Given the description of an element on the screen output the (x, y) to click on. 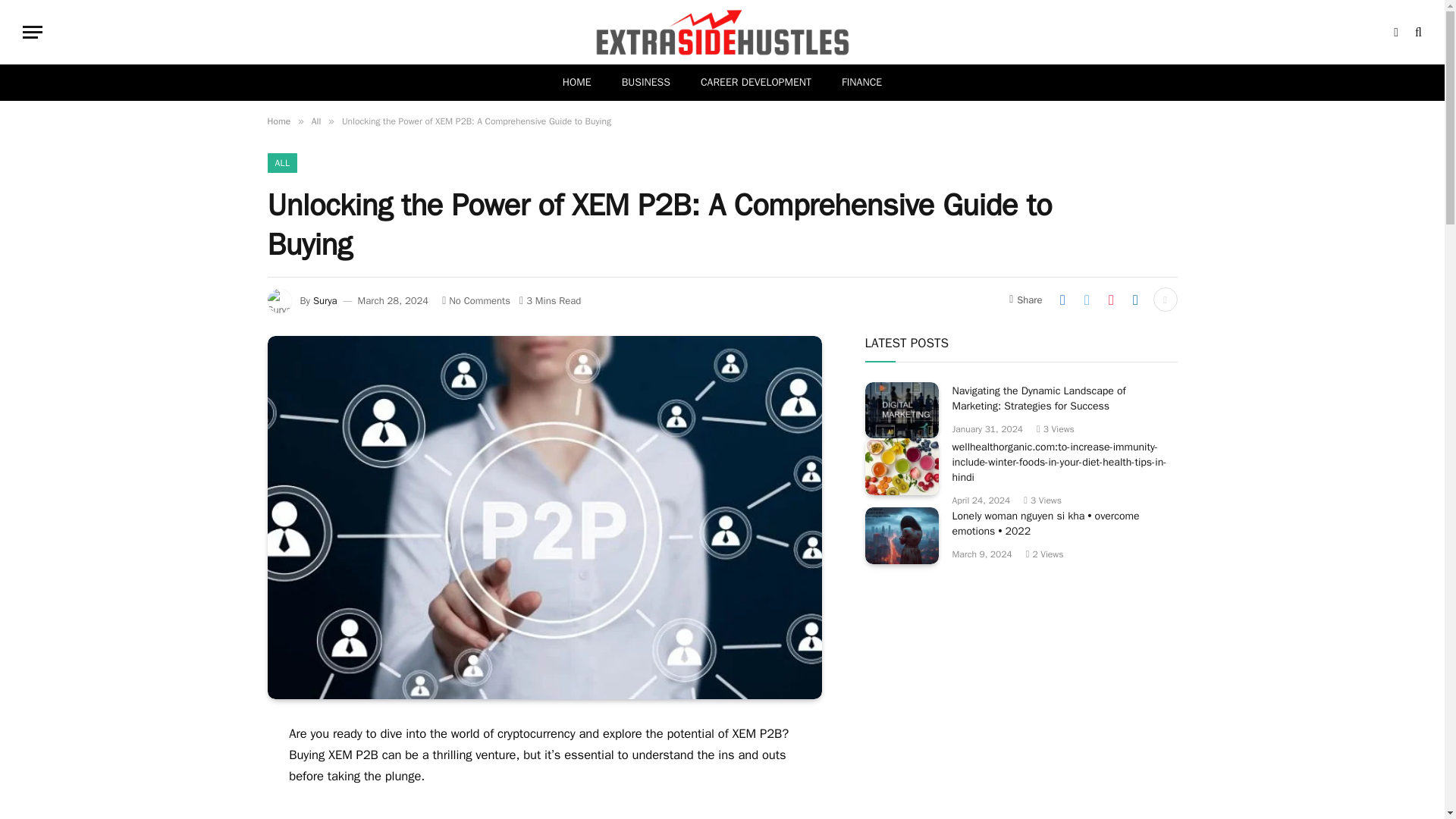
HOME (577, 82)
ALL (281, 162)
Surya (325, 300)
Share on Pinterest (1110, 299)
BUSINESS (646, 82)
Share on LinkedIn (1135, 299)
Home (277, 121)
No Comments (476, 300)
Posts by Surya (325, 300)
ExtraSideHustles (722, 32)
Share on Facebook (1062, 299)
CAREER DEVELOPMENT (756, 82)
Switch to Dark Design - easier on eyes. (1396, 31)
FINANCE (861, 82)
